Given the description of an element on the screen output the (x, y) to click on. 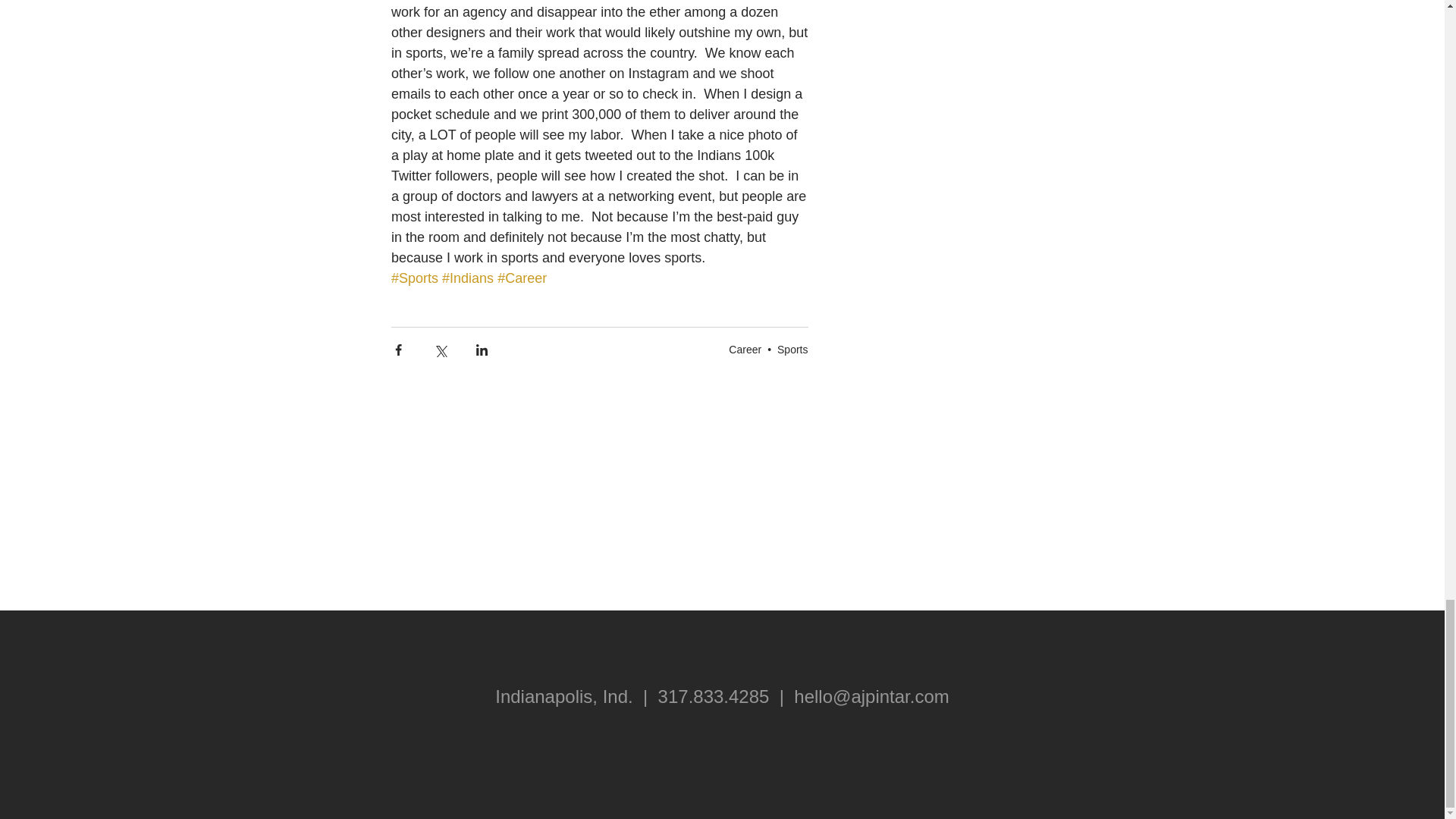
Career (745, 349)
Sports (792, 349)
